Given the description of an element on the screen output the (x, y) to click on. 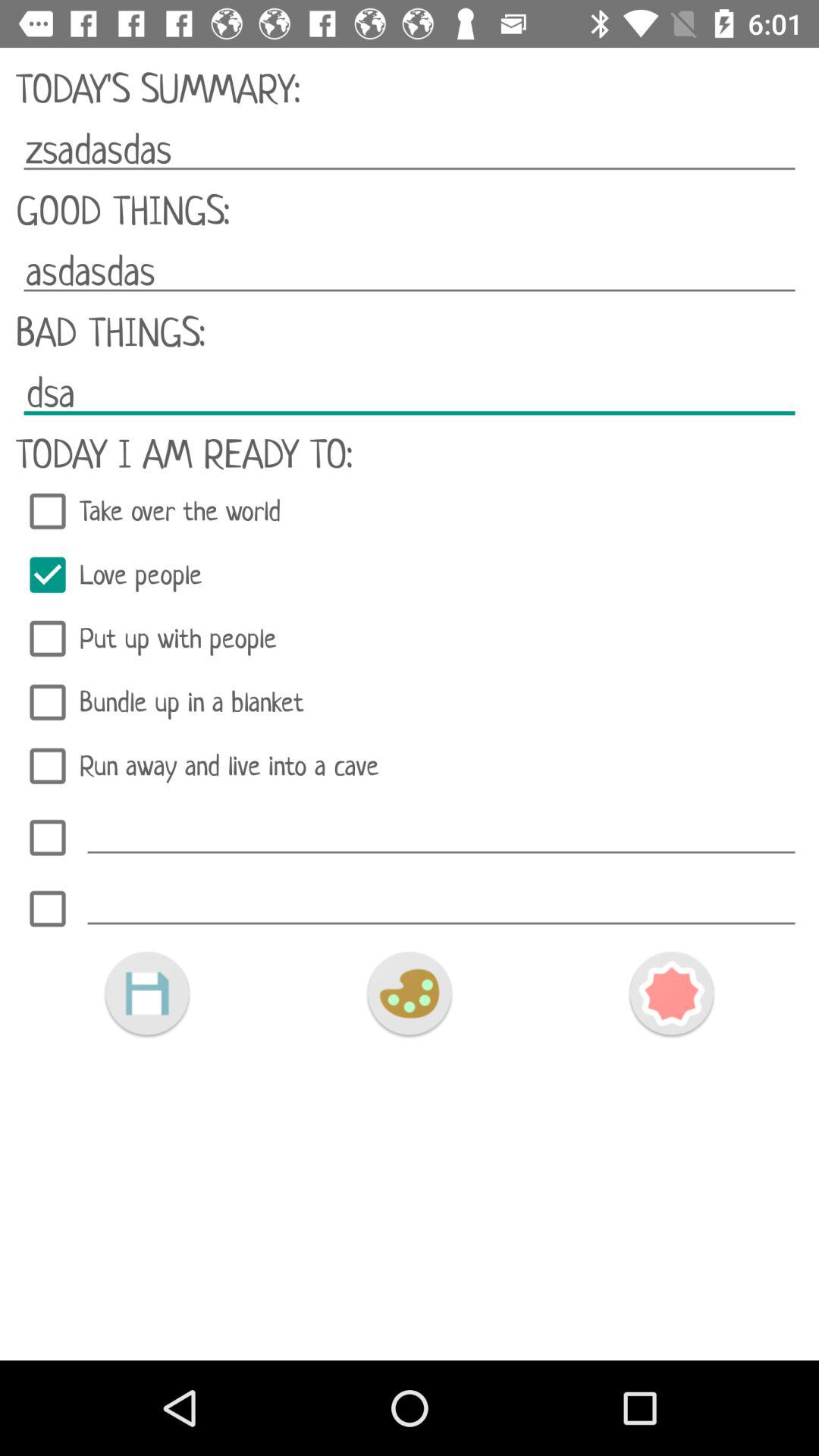
turn off the love people (409, 574)
